Given the description of an element on the screen output the (x, y) to click on. 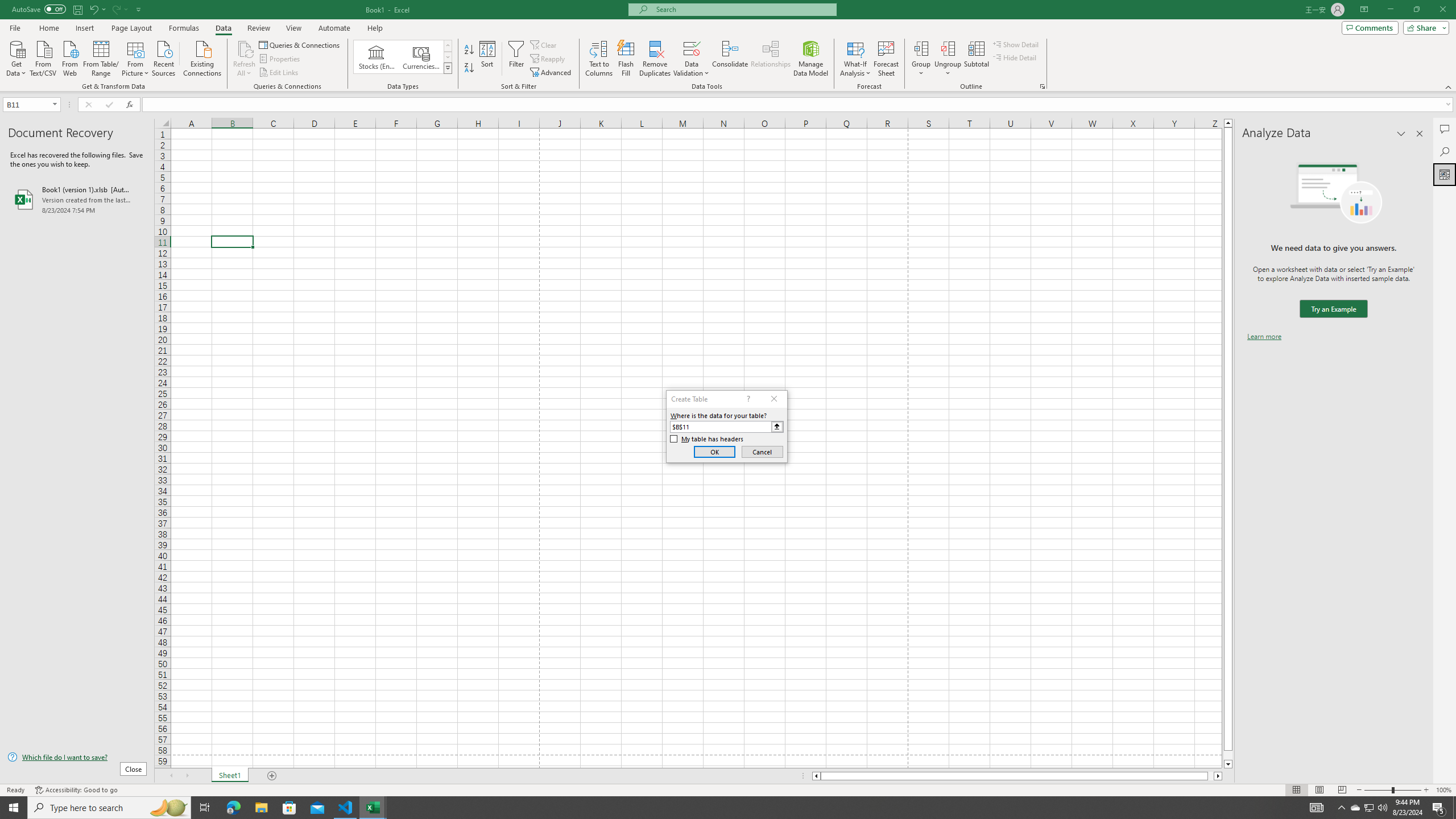
Consolidate... (729, 58)
